Given the description of an element on the screen output the (x, y) to click on. 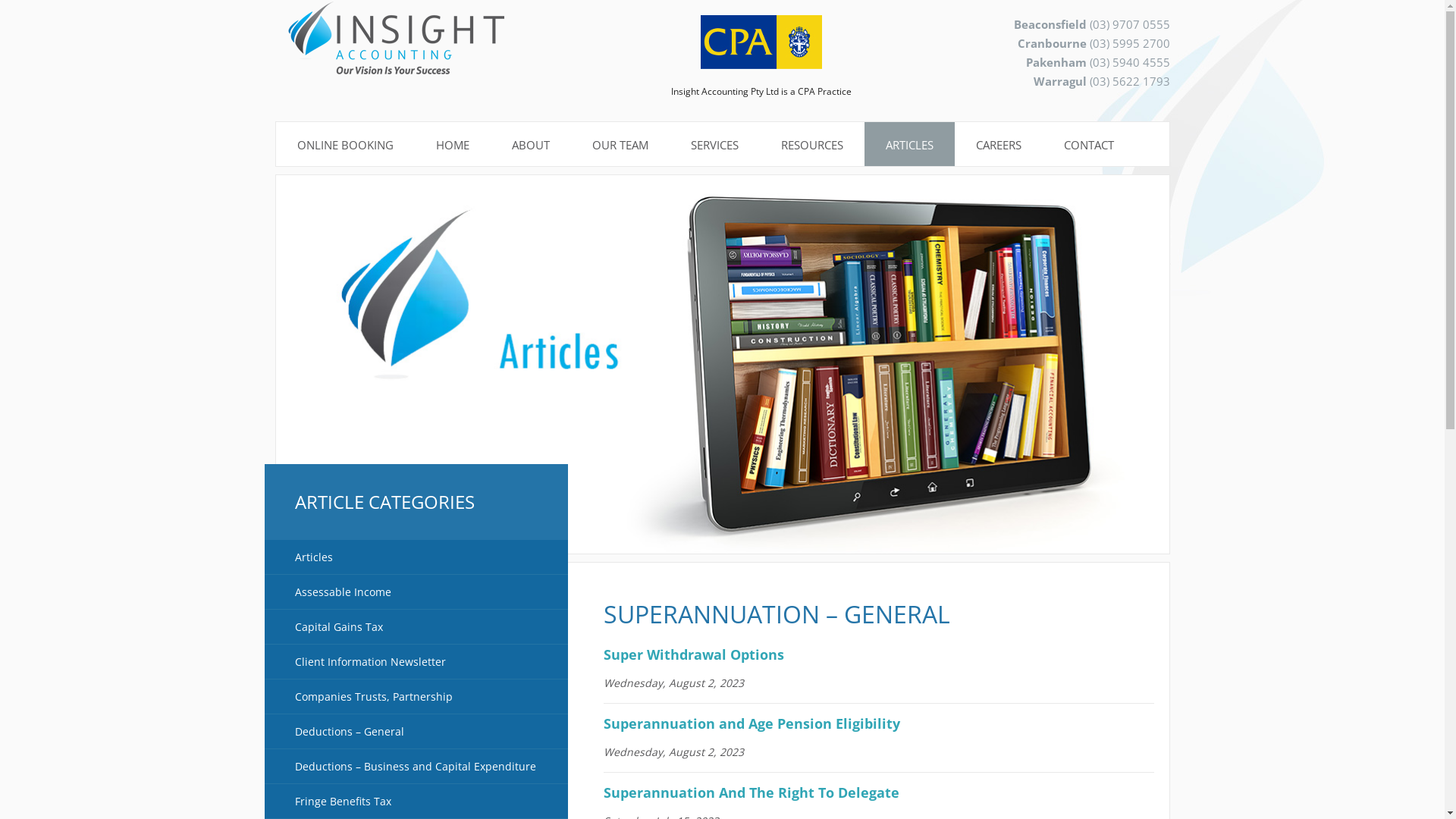
Super Withdrawal Options Element type: text (693, 654)
Client Information Newsletter Element type: text (415, 661)
CAREERS Element type: text (997, 144)
ARTICLES Element type: text (909, 144)
Companies Trusts, Partnership Element type: text (415, 696)
HOME Element type: text (451, 144)
Assessable Income Element type: text (415, 591)
Superannuation And The Right To Delegate Element type: text (751, 792)
Articles Element type: text (415, 556)
OUR TEAM Element type: text (619, 144)
SERVICES Element type: text (713, 144)
Superannuation and Age Pension Eligibility   Element type: text (755, 723)
ONLINE BOOKING Element type: text (345, 144)
Capital Gains Tax Element type: text (415, 626)
CONTACT Element type: text (1087, 144)
ABOUT Element type: text (529, 144)
RESOURCES Element type: text (811, 144)
